Given the description of an element on the screen output the (x, y) to click on. 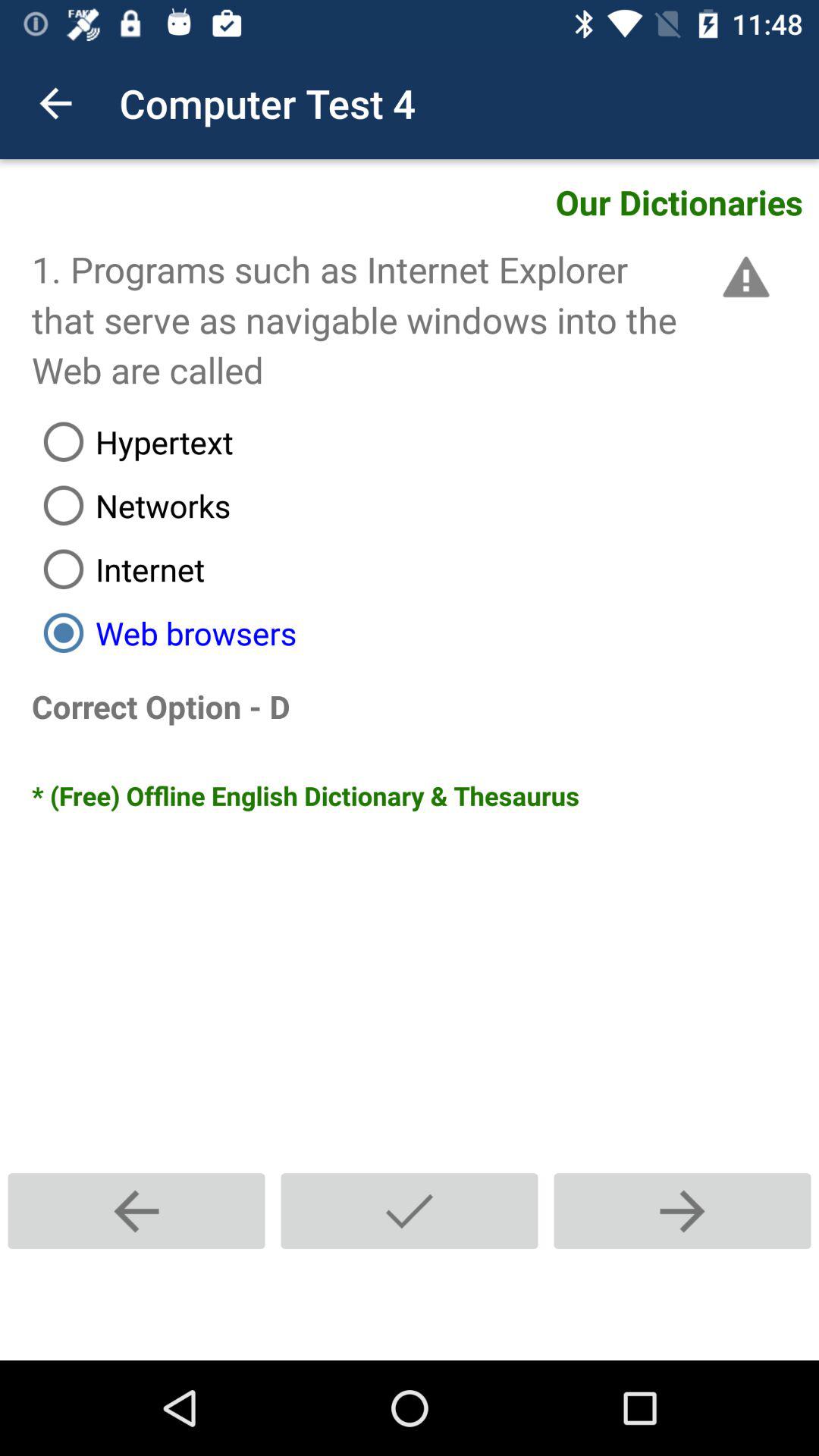
launch item above the networks (425, 441)
